Given the description of an element on the screen output the (x, y) to click on. 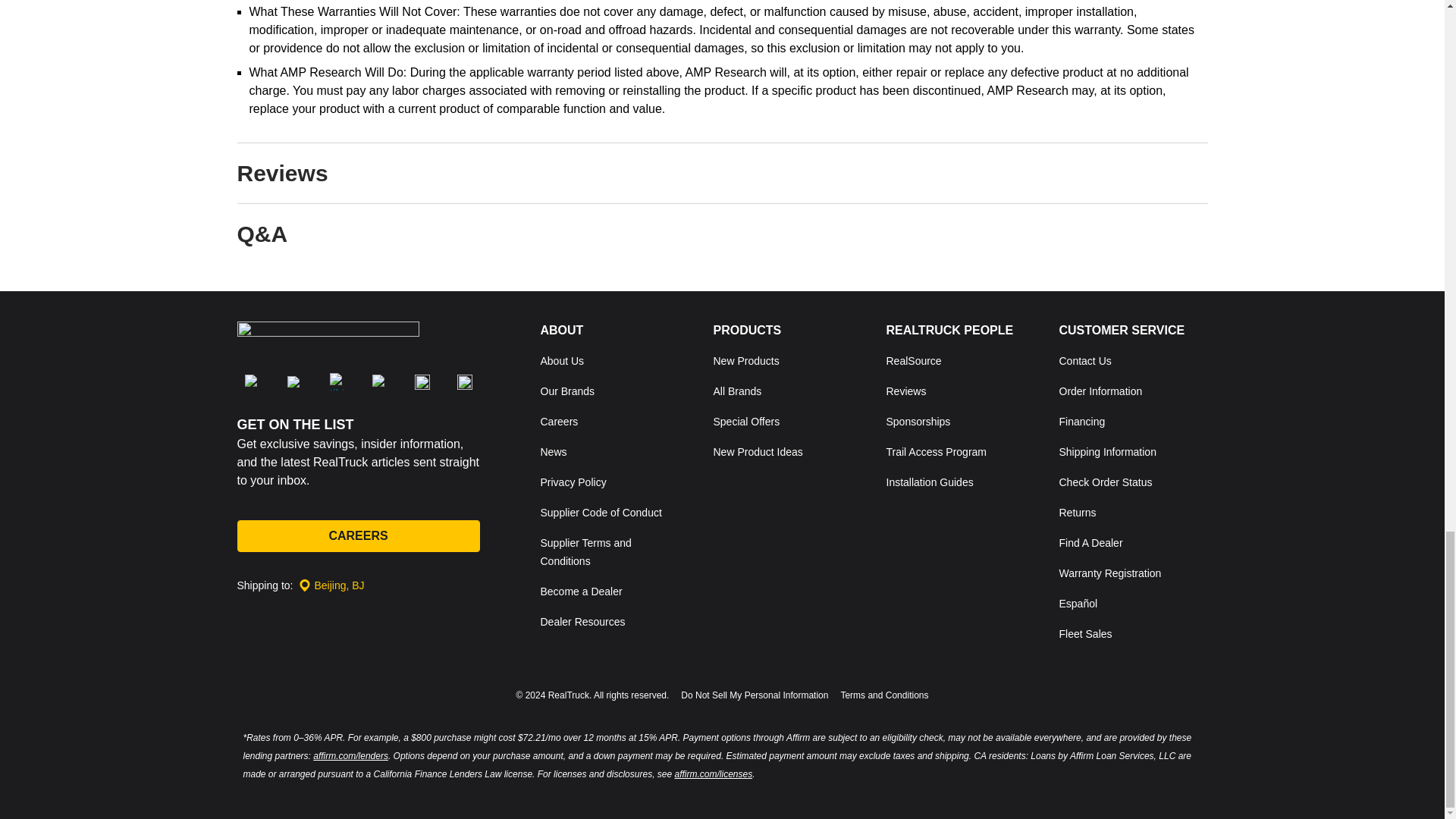
All Brands (737, 390)
News (553, 451)
About Us (561, 360)
Careers (559, 421)
CAREERS (357, 536)
Special Offers (745, 421)
New Products (745, 360)
Dealer Resources (582, 621)
Privacy Policy (572, 481)
Supplier Code of Conduct (600, 512)
Supplier Terms and Conditions (585, 552)
Become a Dealer (580, 591)
Our Brands (567, 390)
